Given the description of an element on the screen output the (x, y) to click on. 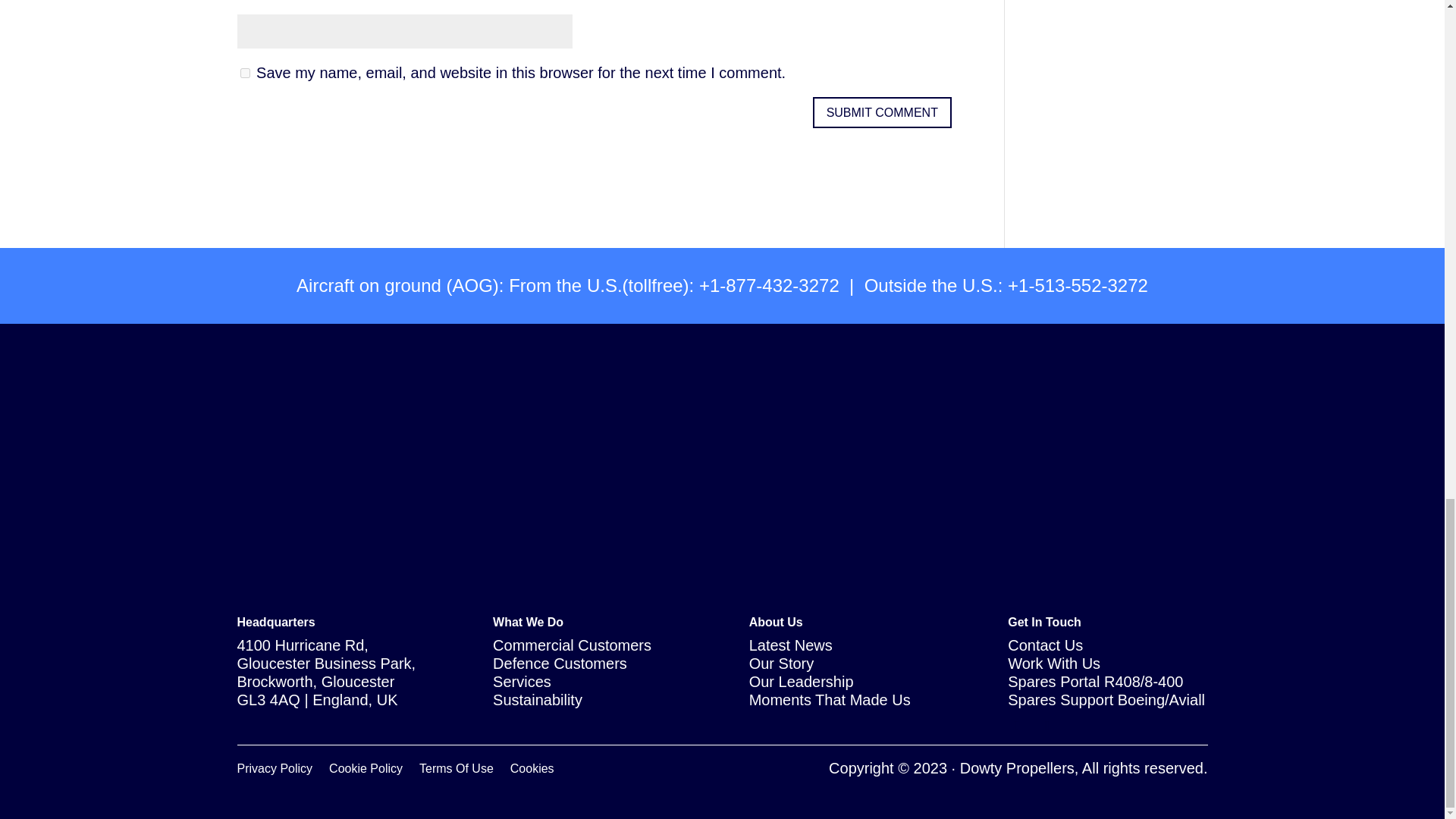
Follow on LinkedIn (1016, 725)
Submit Comment (882, 112)
yes (244, 72)
Our Leadership (801, 681)
Latest News (790, 645)
Defence Customers (560, 663)
Follow on Youtube (1047, 725)
Sustainability (537, 699)
Work With Us (1053, 663)
Commercial Customers (571, 645)
Moments That Made Us (830, 699)
Our Story (781, 663)
Submit Comment (882, 112)
Contact Us (1045, 645)
Services (522, 681)
